Given the description of an element on the screen output the (x, y) to click on. 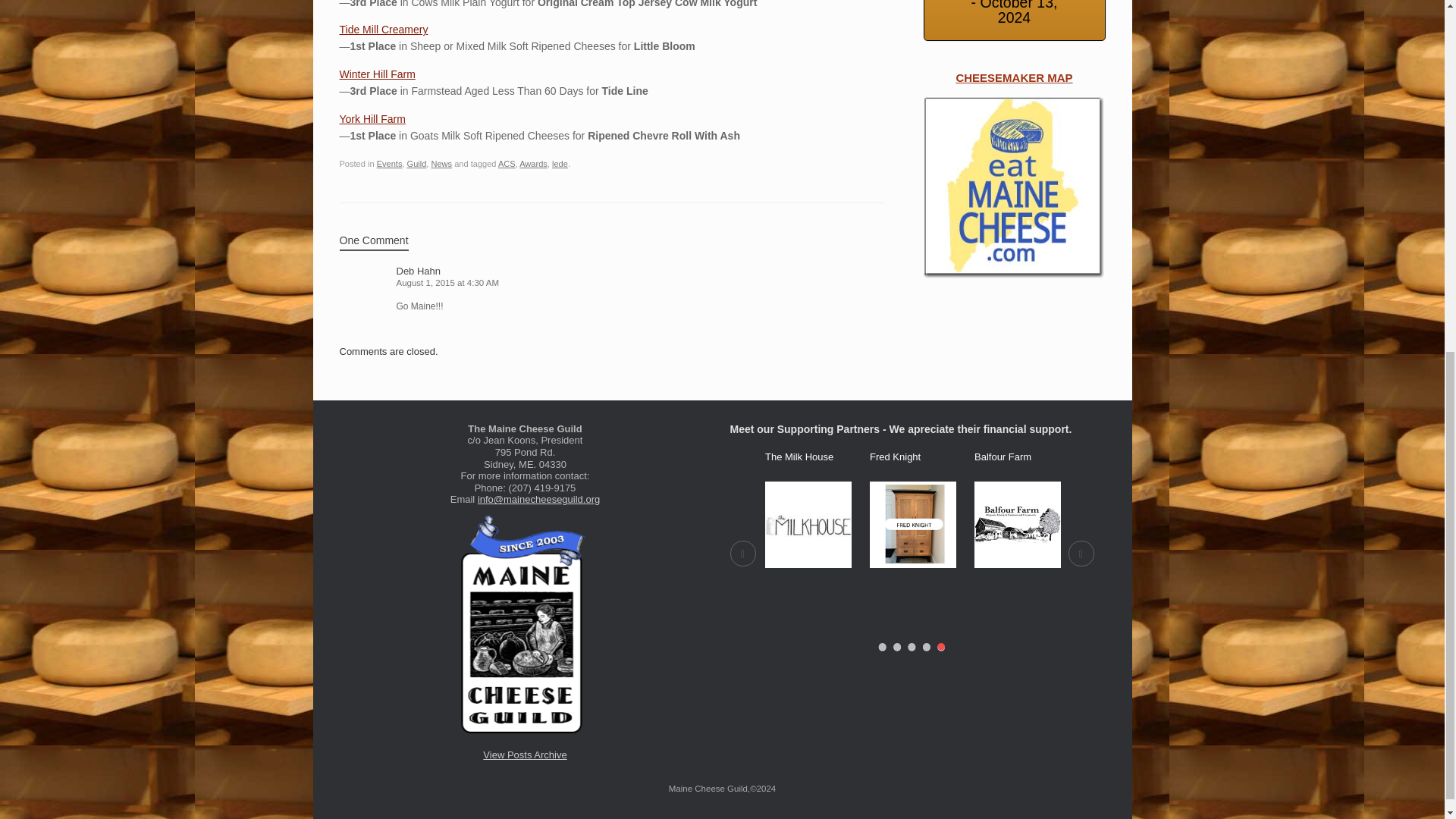
CHEESEMAKER MAP (1014, 187)
York Hill Farm (372, 119)
Winter Hill Farm (376, 73)
News (440, 163)
Events (390, 163)
Guild (416, 163)
ACS (506, 163)
Tide Mill Creamery (383, 29)
